Given the description of an element on the screen output the (x, y) to click on. 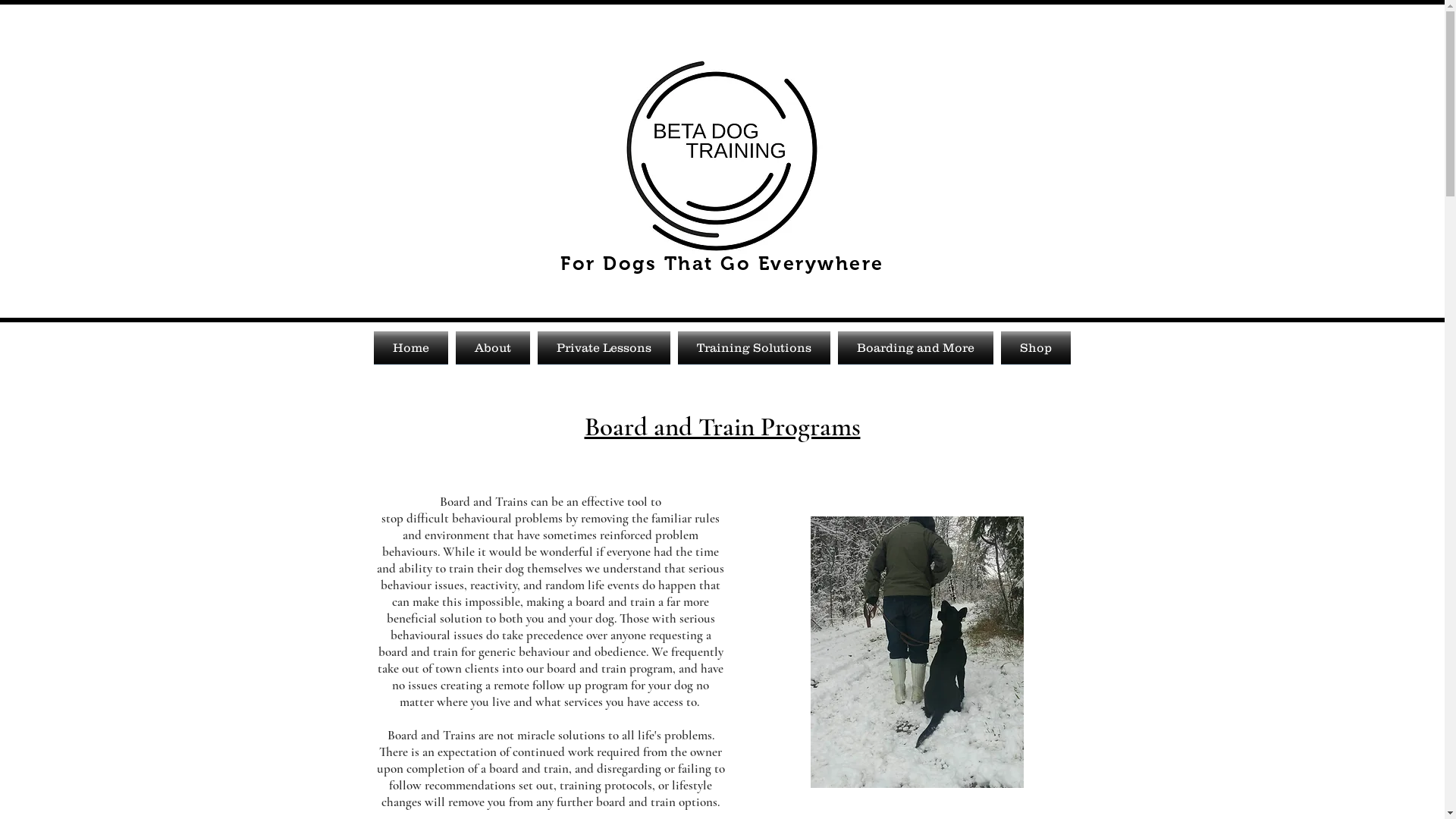
Shop Element type: text (1033, 347)
Home Element type: text (412, 347)
Boarding and More Element type: text (915, 347)
About Element type: text (492, 347)
Training Solutions Element type: text (753, 347)
Private Lessons Element type: text (603, 347)
